Given the description of an element on the screen output the (x, y) to click on. 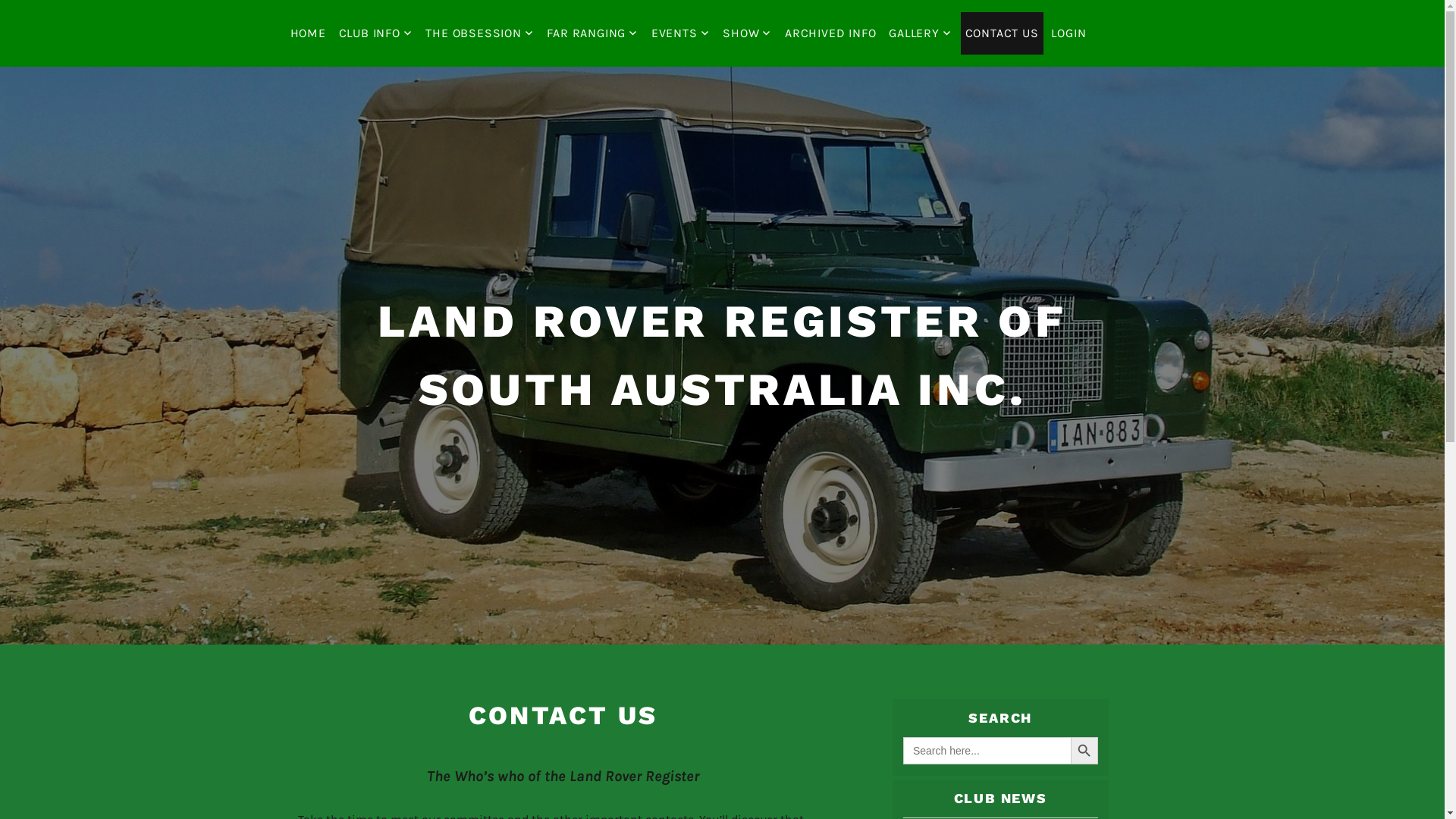
CLUB INFO Element type: text (375, 33)
EVENTS Element type: text (680, 33)
CONTACT US Element type: text (1001, 33)
GALLERY Element type: text (920, 33)
SHOW Element type: text (747, 33)
FAR RANGING Element type: text (592, 33)
ARCHIVED INFO Element type: text (830, 33)
LAND ROVER REGISTER OF SOUTH AUSTRALIA INC. Element type: text (721, 355)
SEARCH BUTTON Element type: text (1084, 750)
LOGIN Element type: text (1068, 33)
THE OBSESSION Element type: text (479, 33)
HOME Element type: text (307, 33)
